Given the description of an element on the screen output the (x, y) to click on. 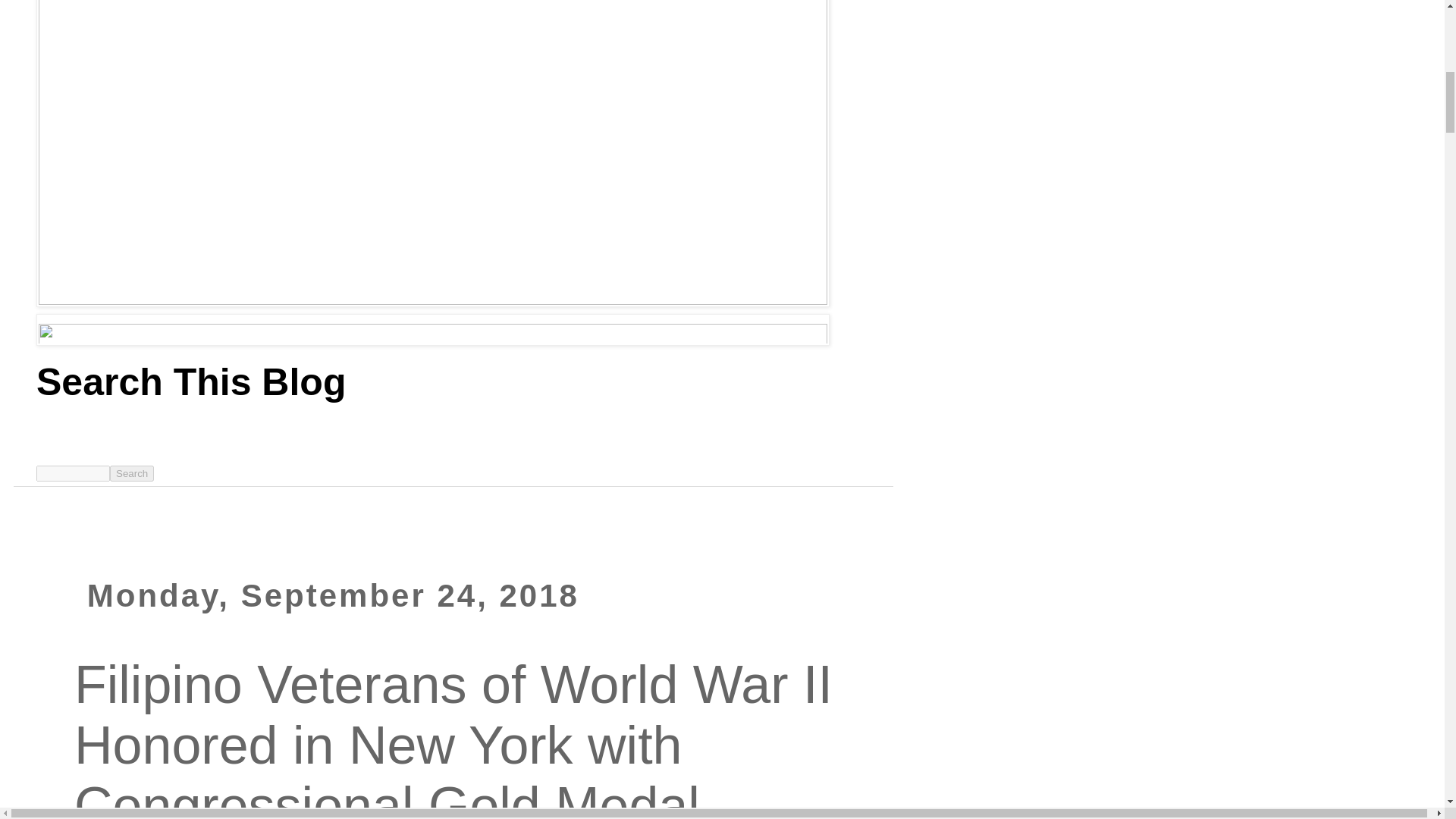
search (132, 473)
Search (132, 473)
search (73, 473)
Search (132, 473)
Search (132, 473)
